Given the description of an element on the screen output the (x, y) to click on. 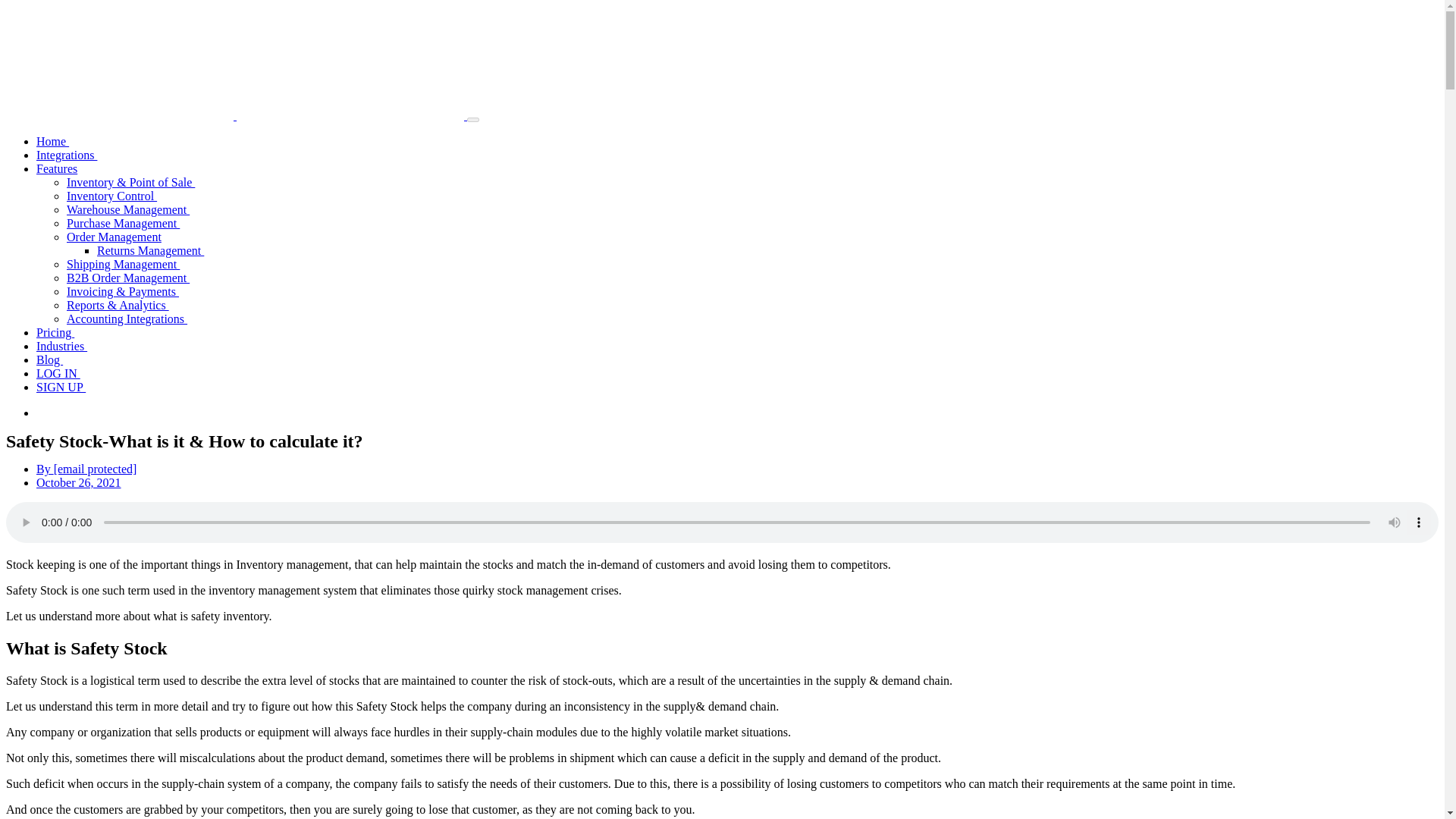
Shipping Management  (122, 264)
Order Management (113, 236)
B2B Order Management (127, 277)
Accounting Integrations (126, 318)
Home (52, 141)
Order Management (113, 236)
Pricing (55, 332)
Accounting Integrations  (126, 318)
Warehouse Management (127, 209)
B2B Order Management  (127, 277)
LOG IN  (58, 373)
Features  (56, 168)
Returns Management (150, 250)
Shipping Management (122, 264)
SIGN UP  (60, 386)
